Given the description of an element on the screen output the (x, y) to click on. 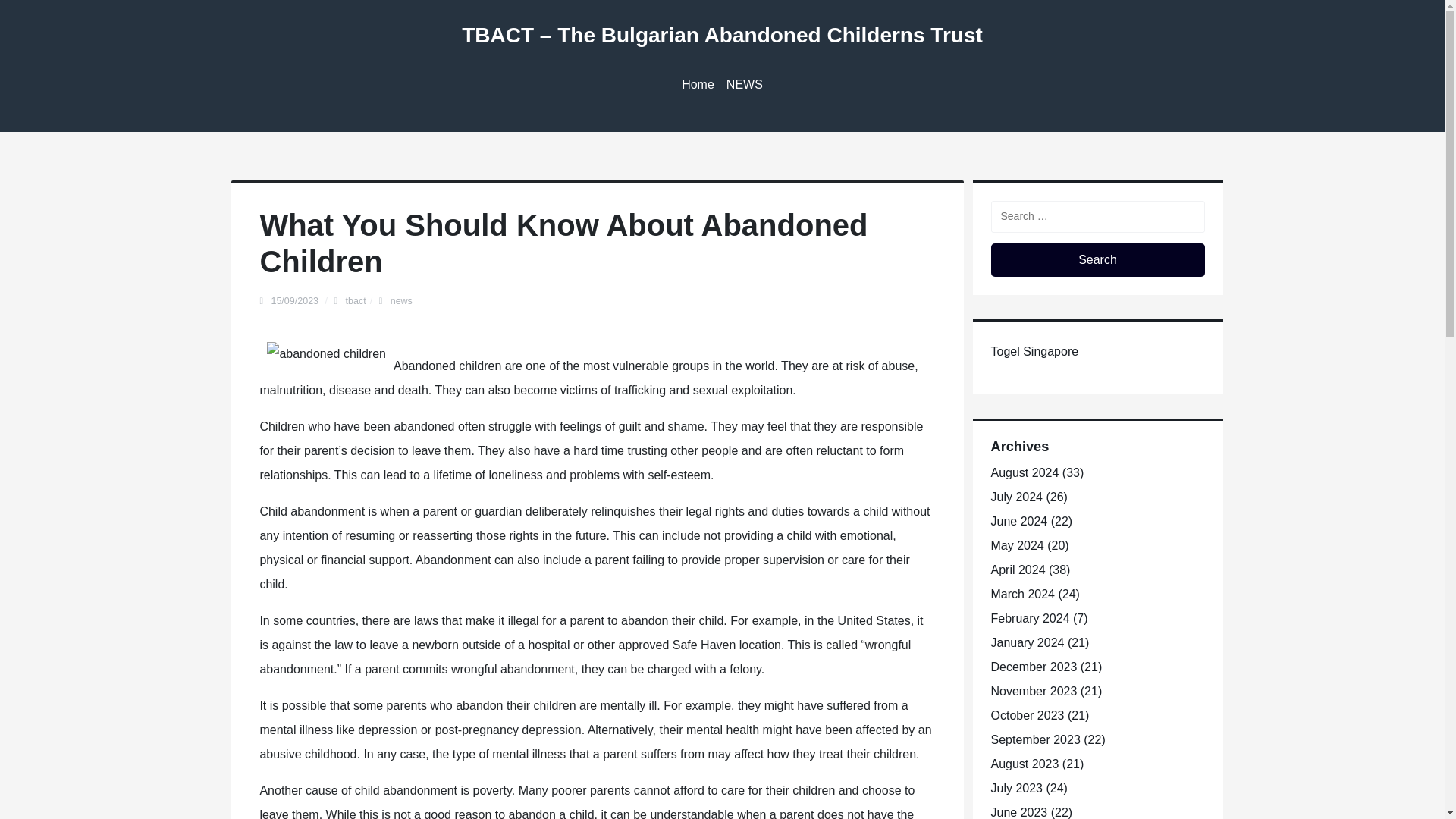
Home (697, 84)
July 2024 (1016, 496)
May 2024 (1016, 545)
Home (697, 84)
February 2024 (1029, 617)
NEWS (744, 84)
November 2023 (1033, 690)
October 2023 (1027, 715)
December 2023 (1033, 666)
Search (1097, 259)
